Given the description of an element on the screen output the (x, y) to click on. 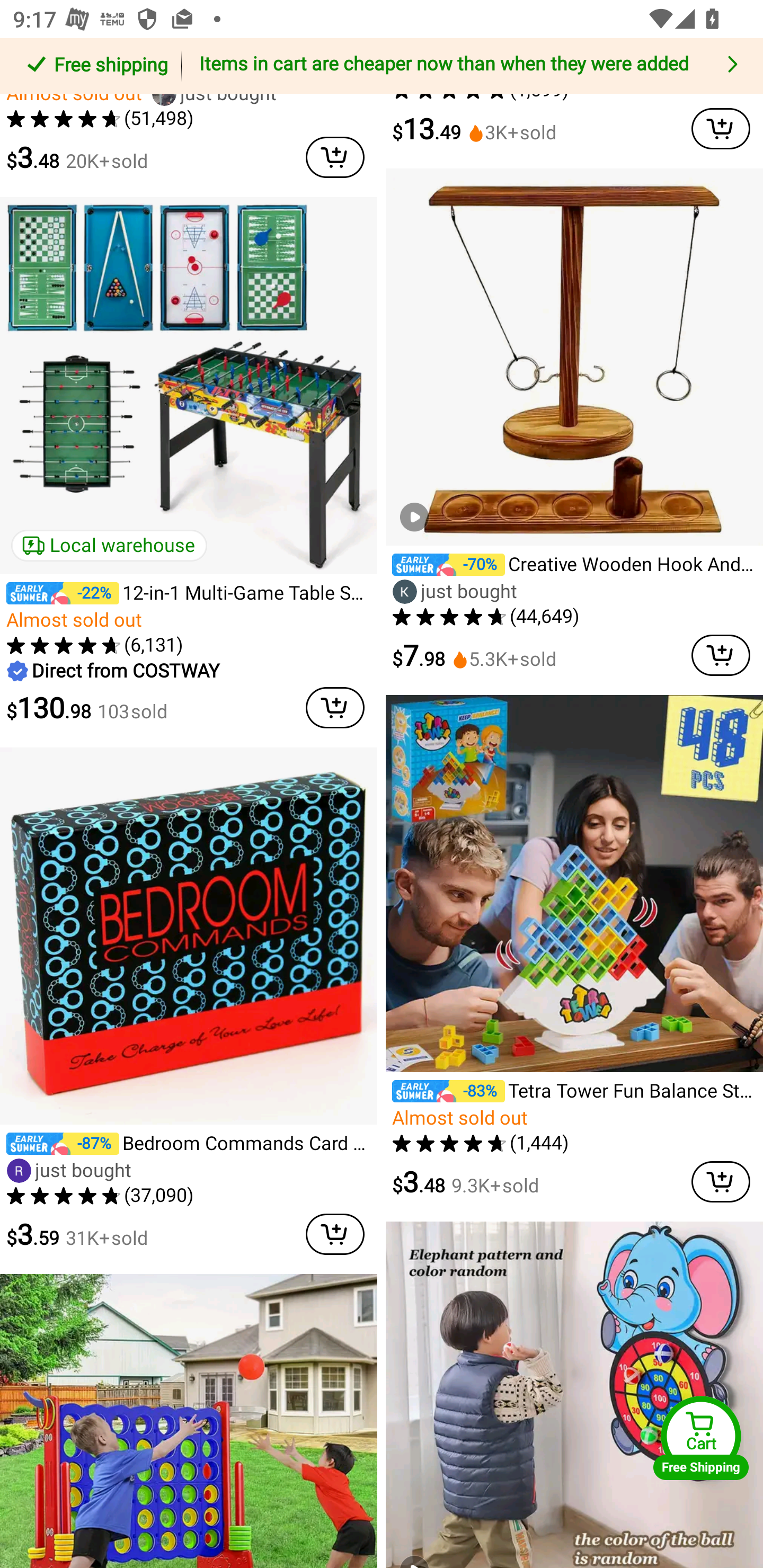
card games (96, 58)
toys (741, 58)
cart delete (720, 128)
cart delete (334, 157)
cart delete (720, 655)
cart delete (334, 707)
cart delete (720, 1181)
cart delete (334, 1233)
Cart Free Shipping Cart (701, 1437)
